Given the description of an element on the screen output the (x, y) to click on. 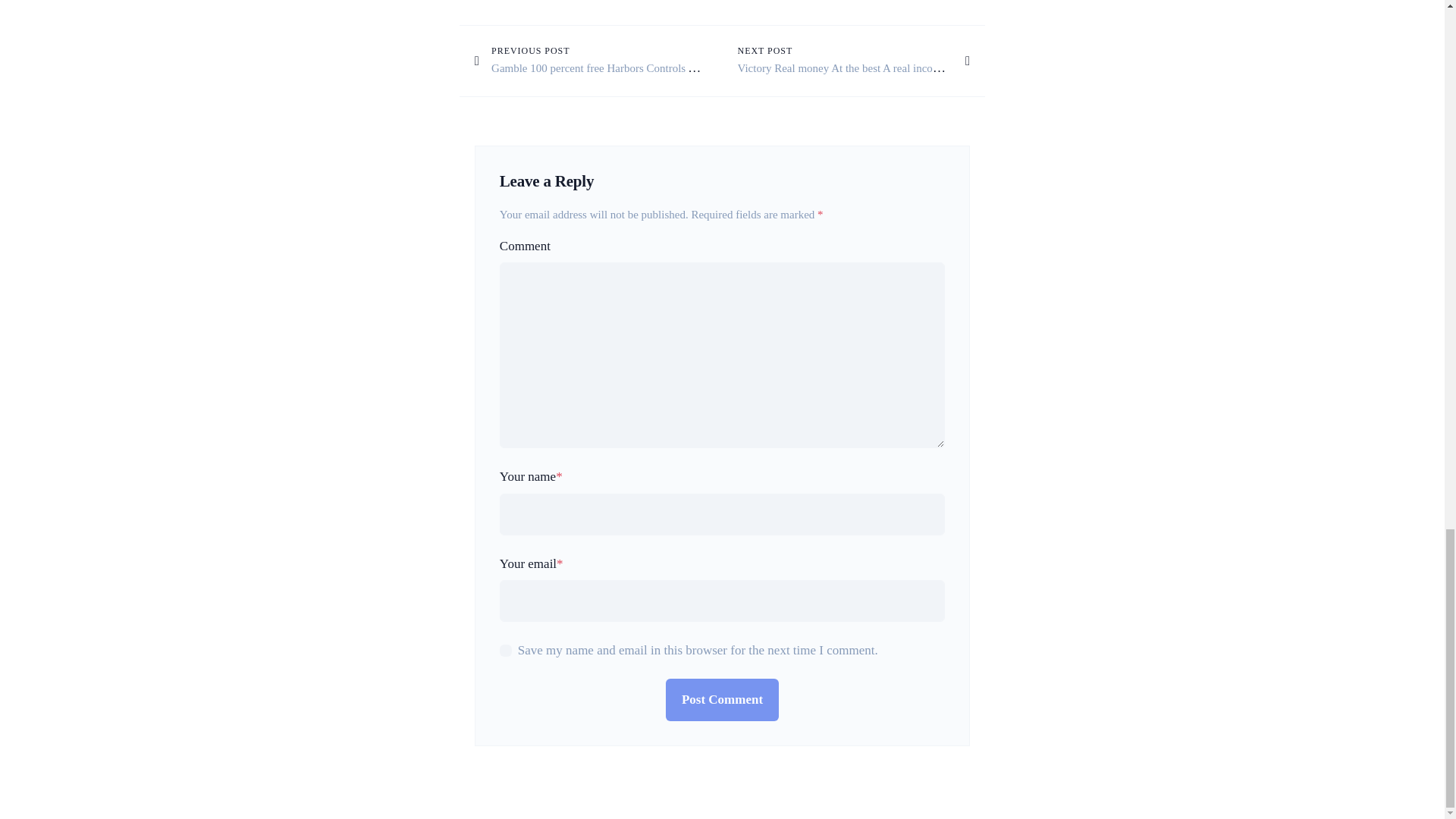
Post Comment (721, 699)
